Given the description of an element on the screen output the (x, y) to click on. 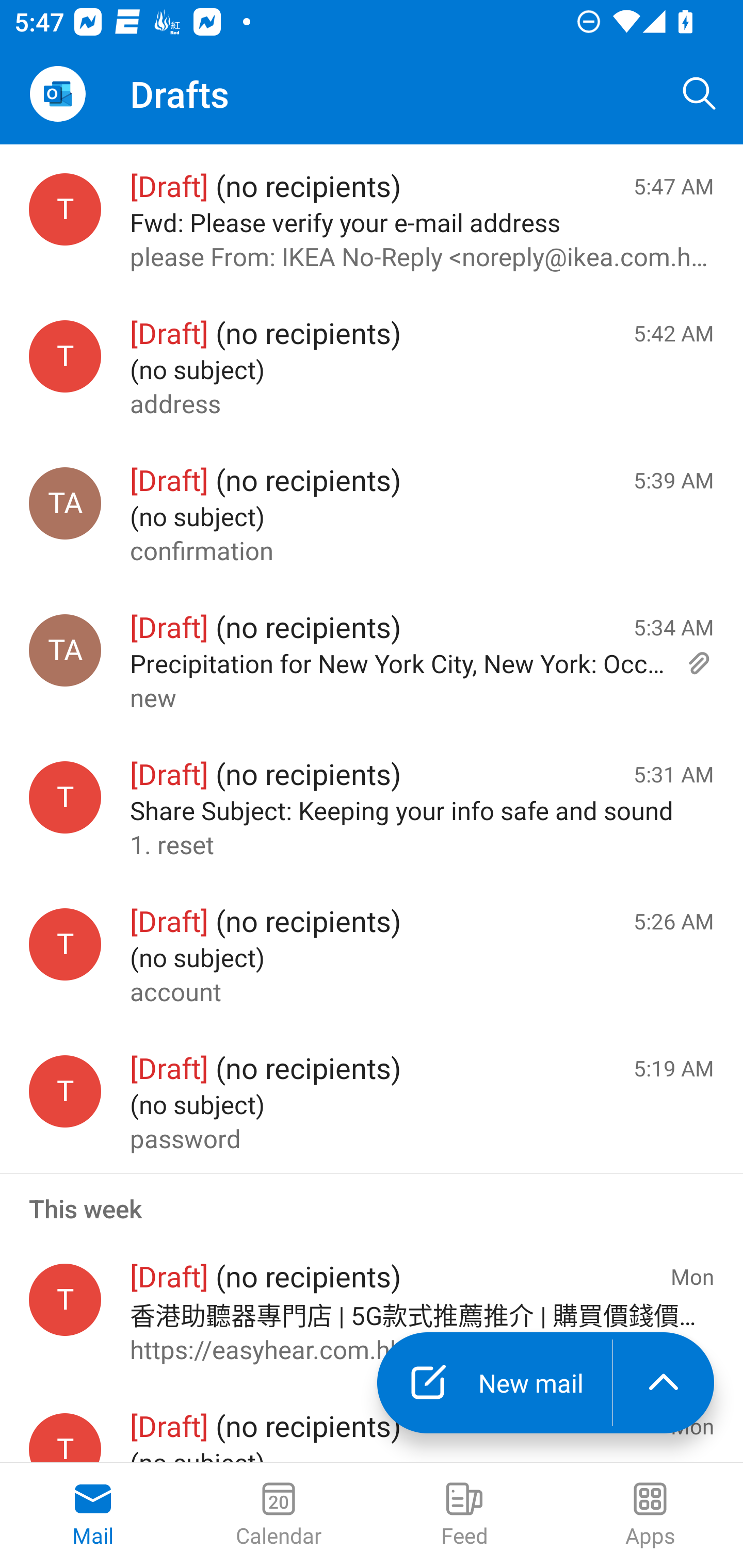
Search, ,  (699, 93)
Open Navigation Drawer (57, 94)
testappium002@outlook.com (64, 210)
testappium002@outlook.com (64, 355)
Test Appium, testappium002@outlook.com (64, 503)
Test Appium, testappium002@outlook.com (64, 650)
testappium002@outlook.com (64, 798)
testappium002@outlook.com (64, 943)
testappium002@outlook.com (64, 1091)
testappium002@outlook.com (64, 1299)
New mail (494, 1382)
launch the extended action menu (663, 1382)
Calendar (278, 1515)
Feed (464, 1515)
Apps (650, 1515)
